Given the description of an element on the screen output the (x, y) to click on. 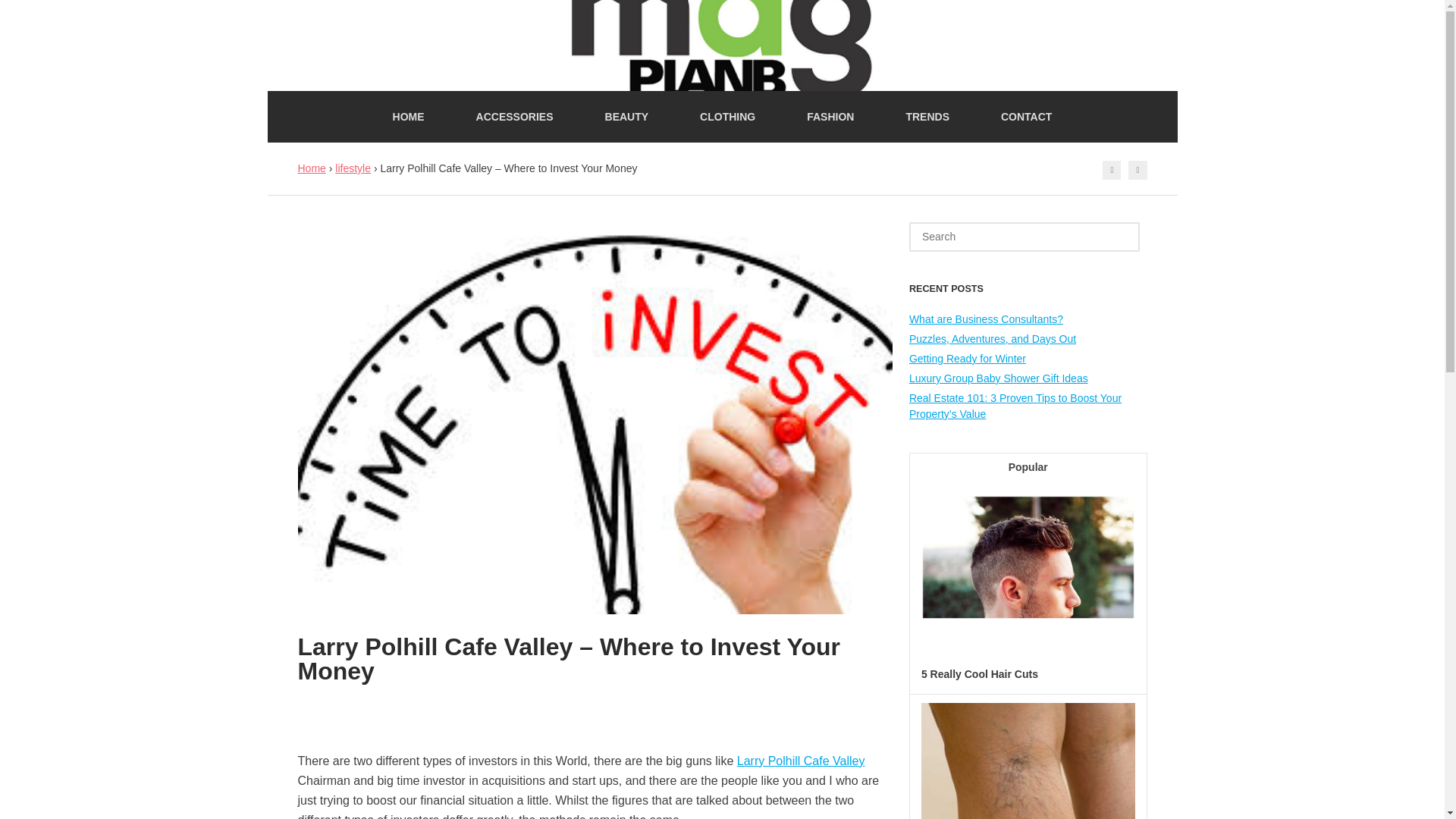
TRENDS (927, 116)
CLOTHING (727, 116)
CONTACT (1026, 116)
Luxury Group Baby Shower Gift Ideas (997, 378)
FASHION (829, 116)
Home (310, 168)
What are Business Consultants? (985, 318)
Larry Polhill Cafe Valley (800, 760)
5 Really Cool Hair Cuts (979, 674)
Search (36, 13)
